Given the description of an element on the screen output the (x, y) to click on. 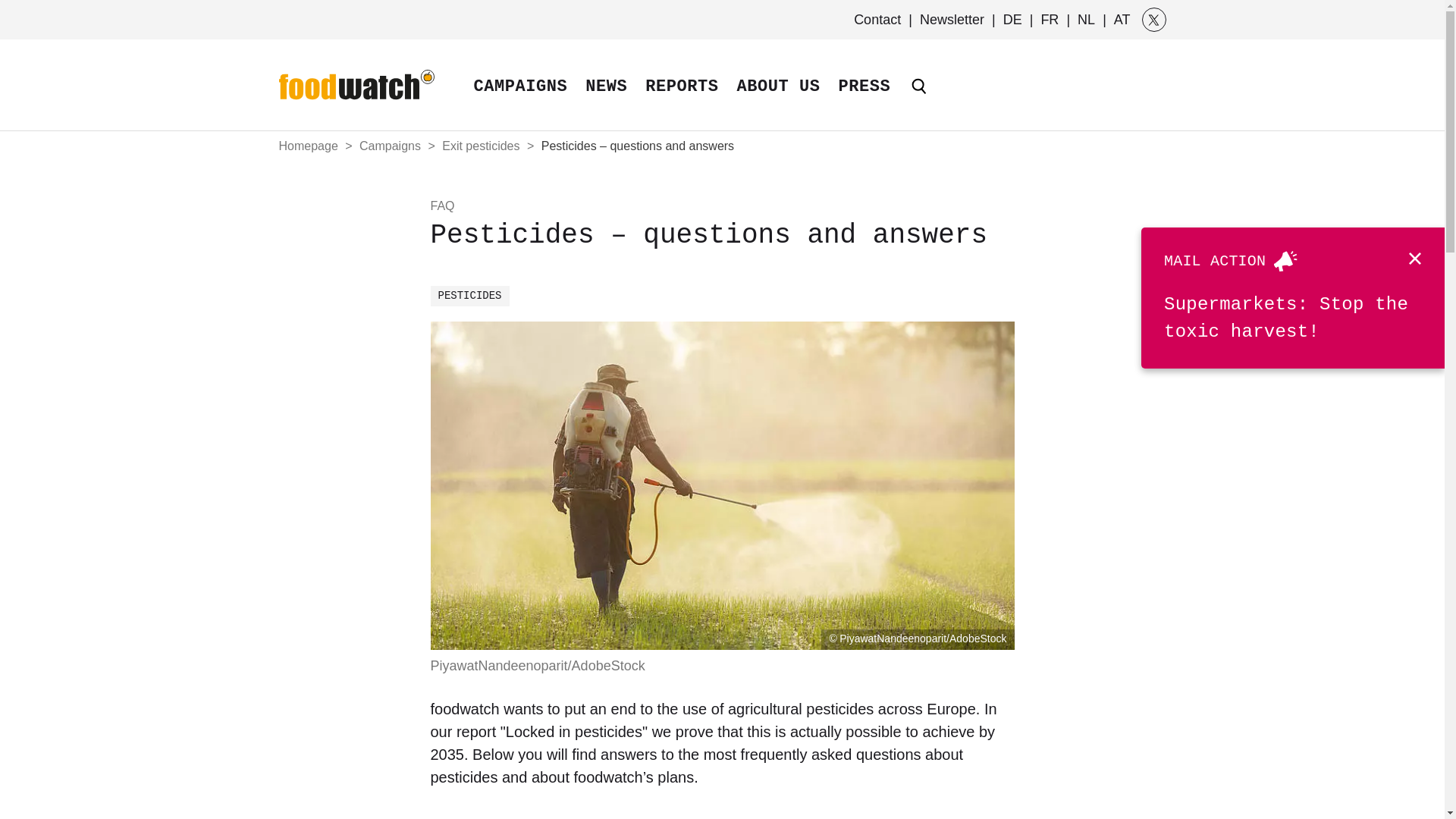
REPORTS (681, 99)
NEWS (606, 99)
CAMPAIGNS (520, 99)
Contact (878, 19)
PRESS (864, 99)
News (606, 99)
FR (1049, 19)
Campaigns (520, 99)
DE (1012, 19)
About us (778, 99)
FR (1049, 19)
Reports (681, 99)
NL (1086, 19)
AT (1120, 19)
Newsletter (951, 19)
